Given the description of an element on the screen output the (x, y) to click on. 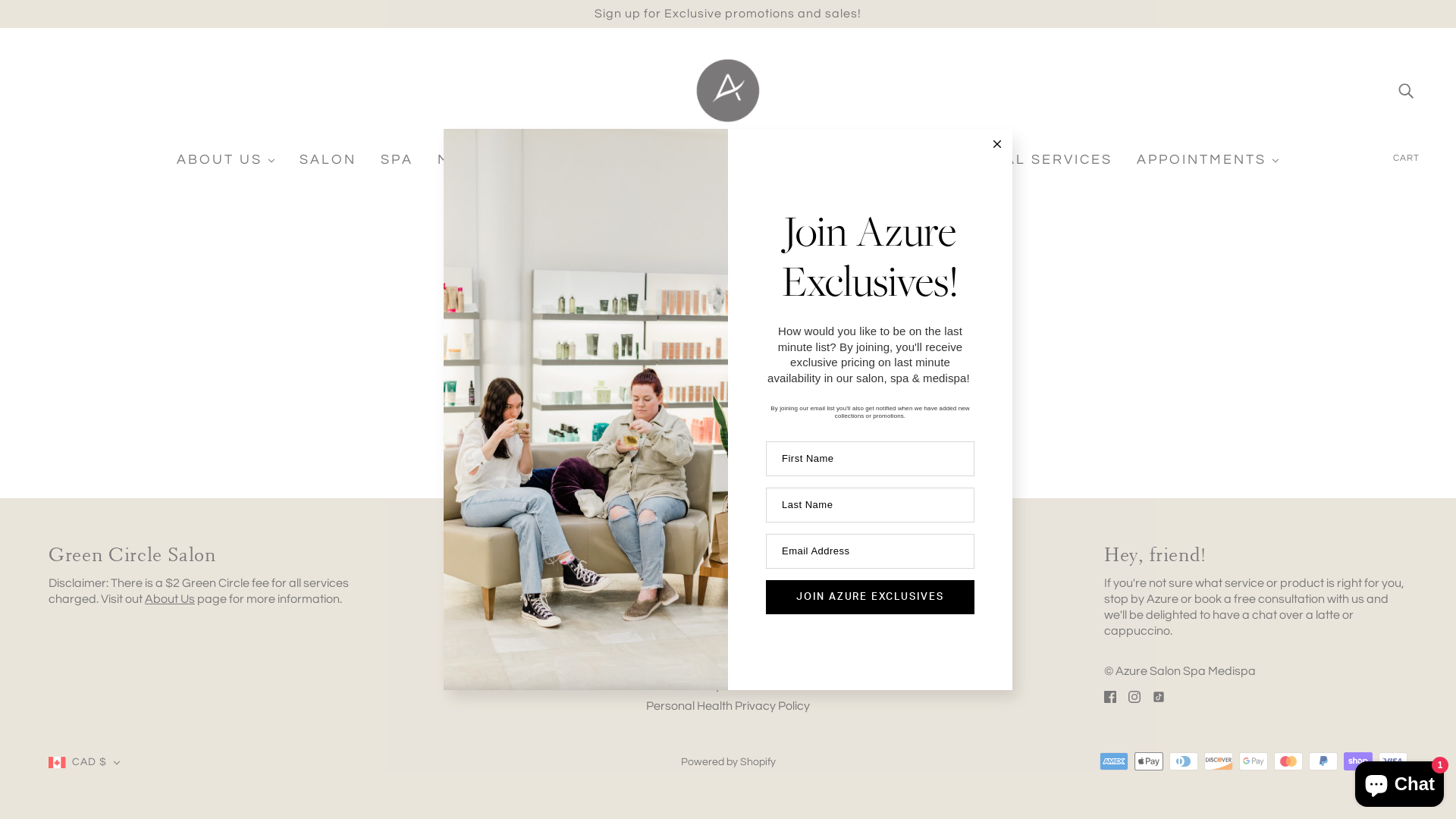
MEDISPA Element type: text (480, 166)
ABOUT US Element type: text (225, 166)
Contact Us Element type: text (676, 582)
Powered by Shopify Element type: text (727, 761)
Home page Element type: text (687, 363)
Azure Salon Spa Medispa Element type: hover (728, 89)
PRODUCTS Element type: text (714, 166)
Shopify online store chat Element type: hover (1399, 780)
BRIDAL SERVICES Element type: text (1038, 166)
About us Element type: text (670, 603)
Personal Health Privacy Policy Element type: text (727, 705)
PACKAGES Element type: text (593, 166)
products Element type: text (856, 363)
JOIN AZURE EXCLUSIVES Element type: text (869, 597)
Service Policy Element type: text (683, 685)
SALON Element type: text (327, 166)
Privacy Policy Element type: text (683, 664)
SKIN CARE PLANS Element type: text (865, 166)
SPA Element type: text (396, 166)
Referral Program Element type: text (694, 644)
CART Element type: text (1405, 158)
Join our Team Element type: text (683, 623)
APPOINTMENTS Element type: text (1207, 166)
About Us Element type: text (169, 599)
